Given the description of an element on the screen output the (x, y) to click on. 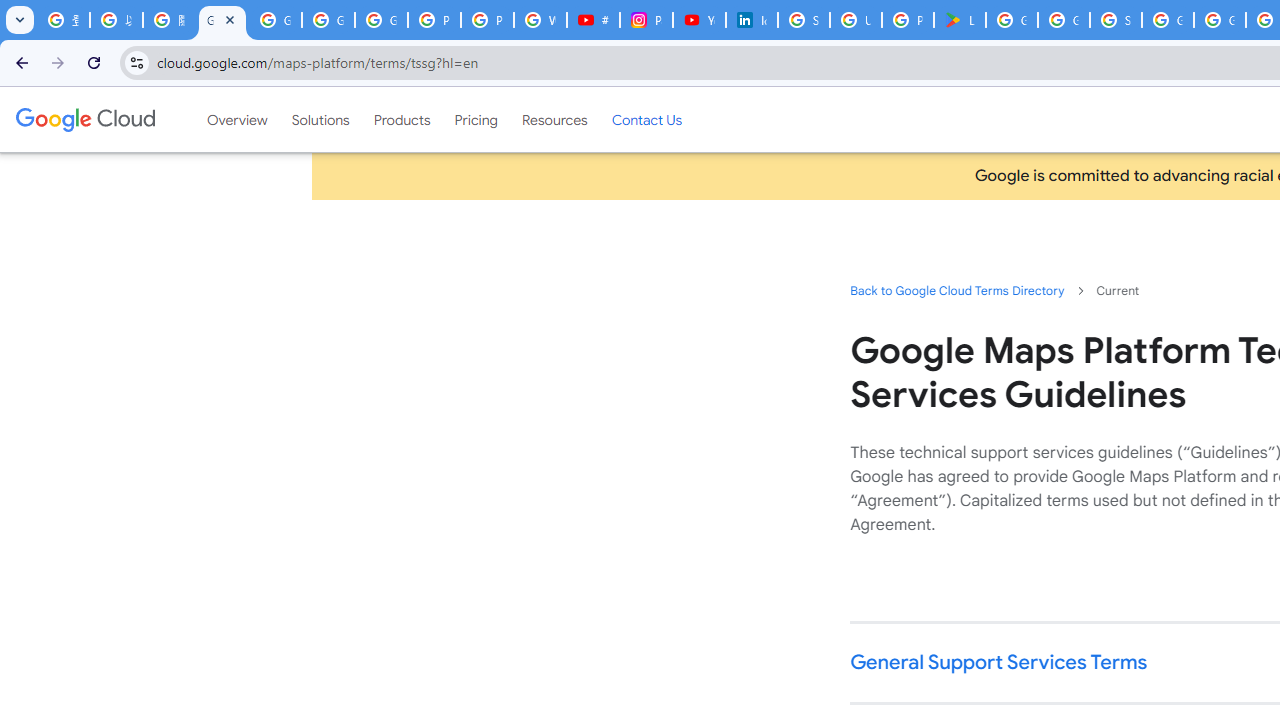
Pricing (476, 119)
Google Cloud (84, 119)
Google Cloud Platform (1219, 20)
YouTube Culture & Trends - On The Rise: Handcam Videos (699, 20)
Google Workspace - Specific Terms (1064, 20)
Sign in - Google Accounts (803, 20)
